Given the description of an element on the screen output the (x, y) to click on. 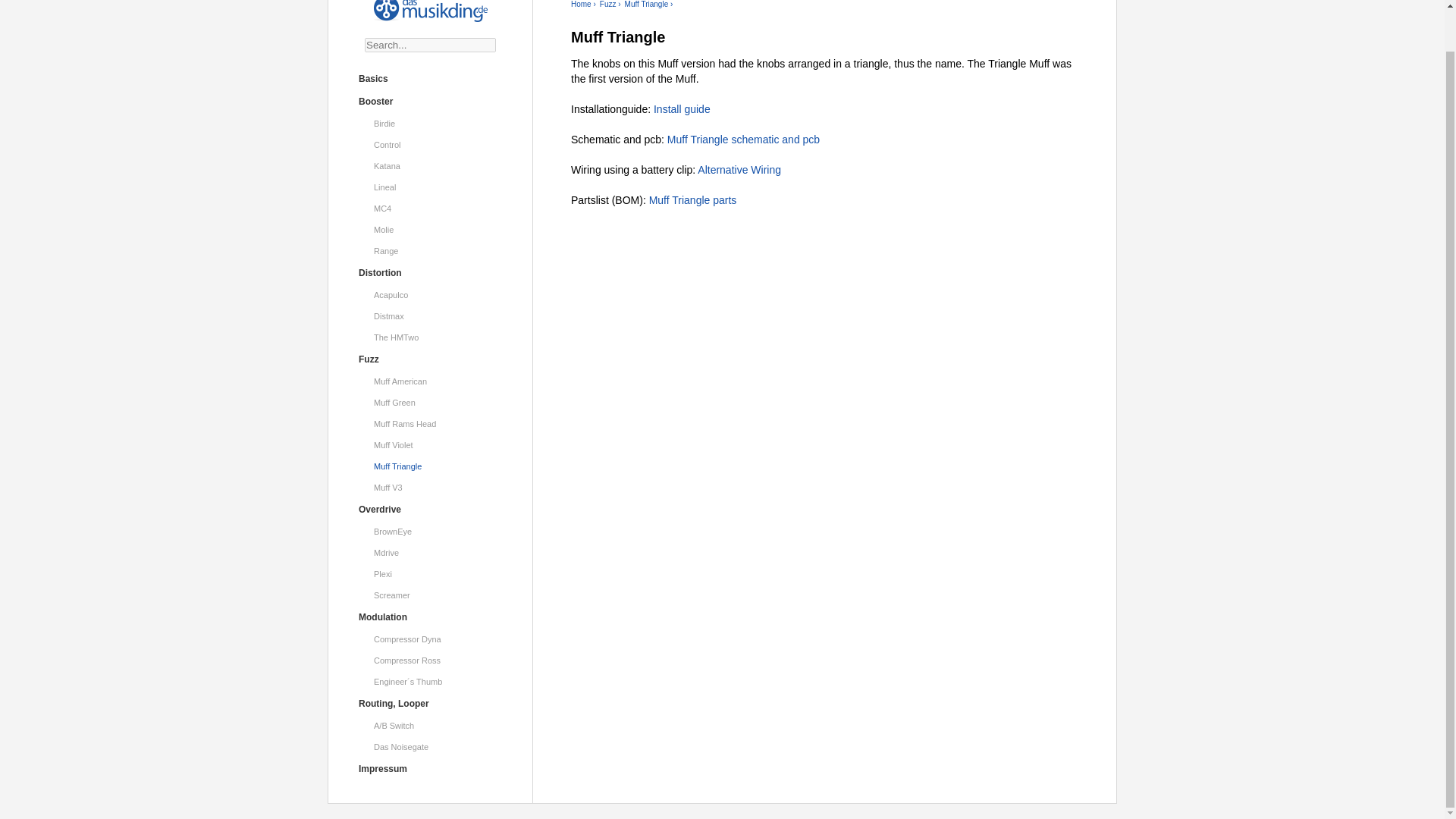
Acapulco (430, 294)
Muff American (430, 381)
Birdie (430, 123)
Mdrive (430, 552)
Muff Green (430, 402)
Distmax (430, 315)
Das Noisegate (430, 746)
Muff Violet (430, 444)
Katana (430, 165)
Control (430, 144)
